Given the description of an element on the screen output the (x, y) to click on. 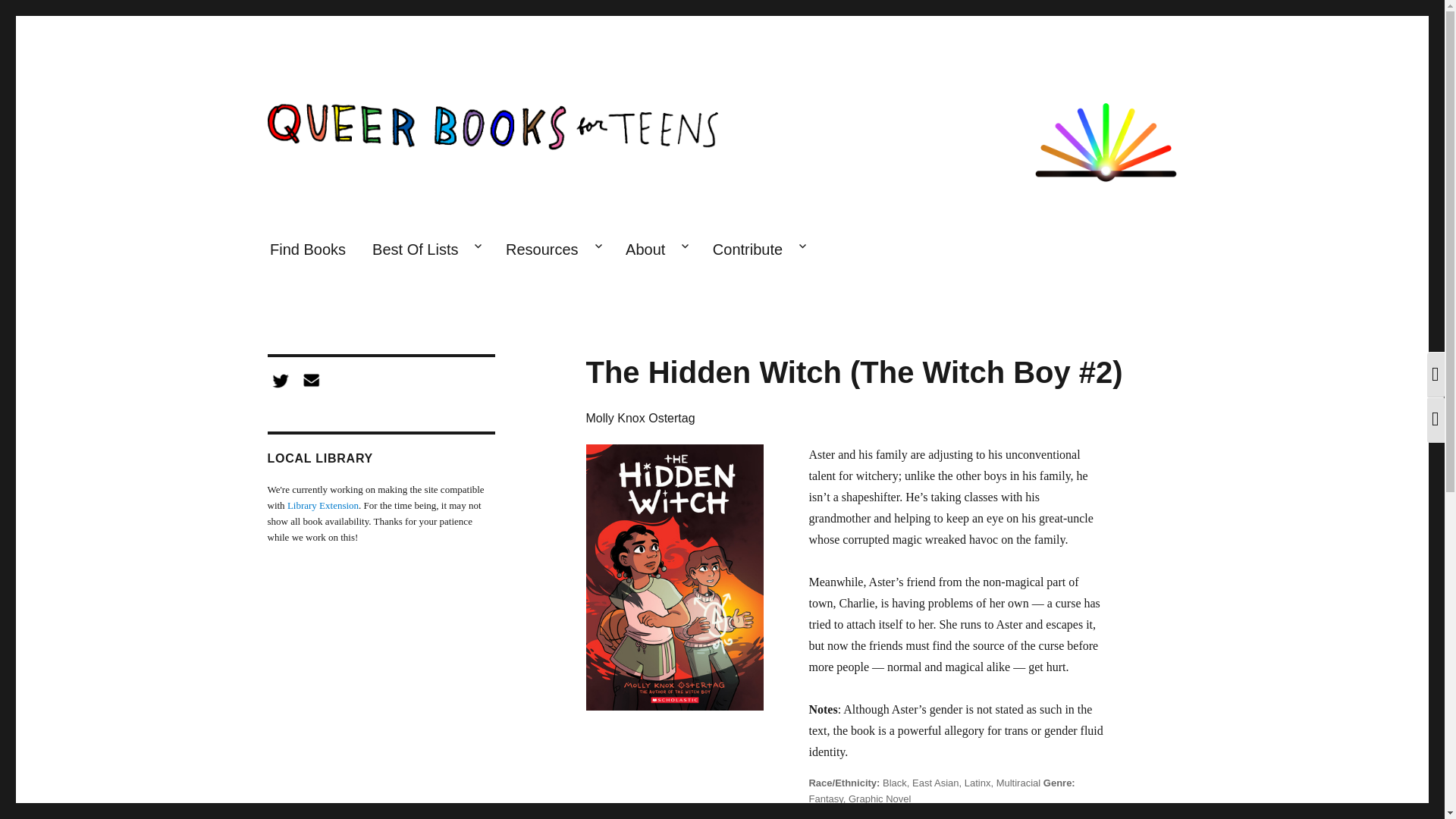
Latinx (977, 782)
About (656, 250)
Multiracial (1018, 782)
Find Books (307, 250)
Resources (551, 250)
Best Of Lists (426, 250)
Fantasy (825, 798)
Contribute (757, 250)
East Asian (935, 782)
Black (894, 782)
